Given the description of an element on the screen output the (x, y) to click on. 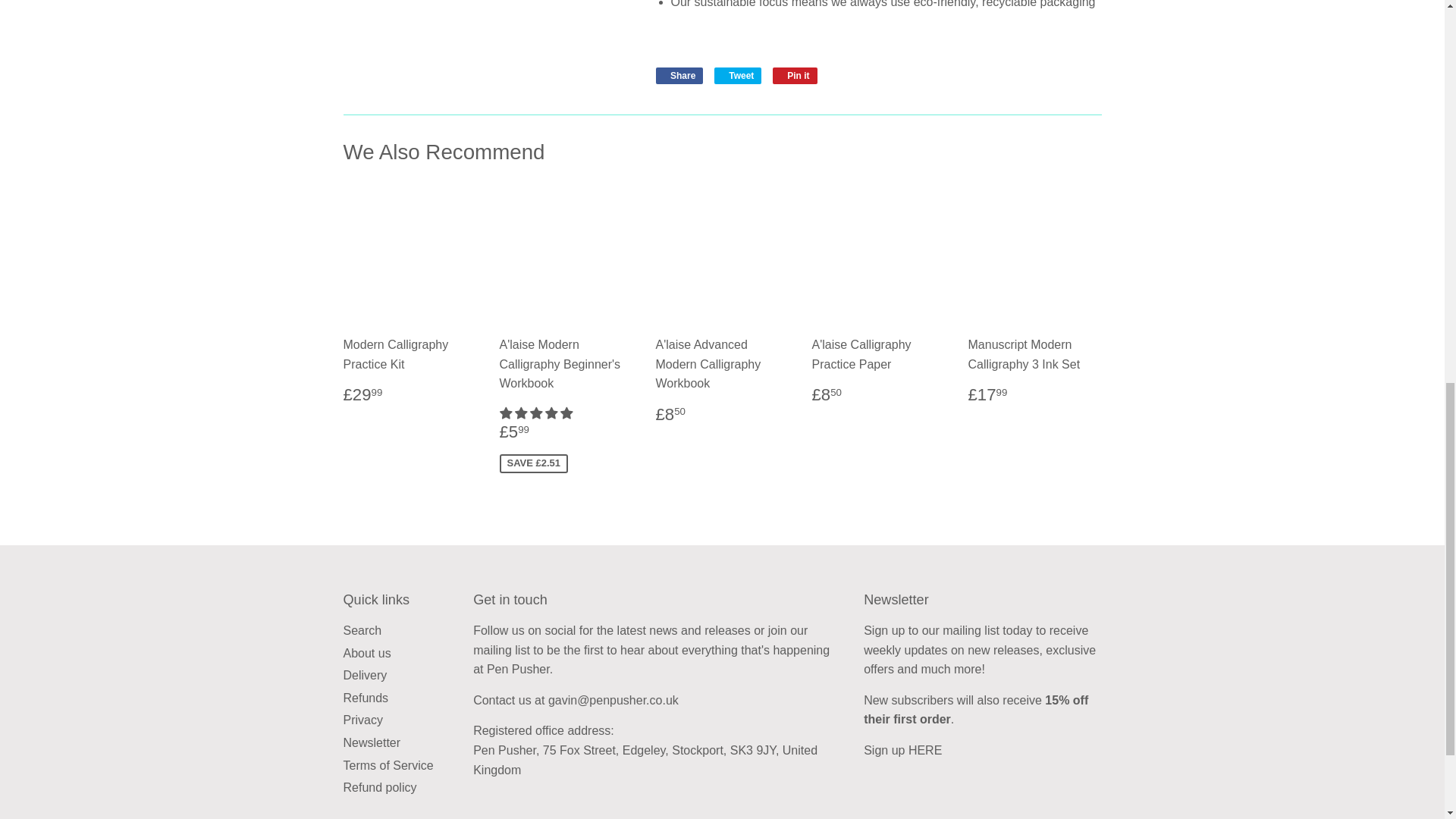
Pin on Pinterest (794, 75)
Share on Facebook (679, 75)
Sign up to our newsletter (925, 749)
Tweet on Twitter (737, 75)
